Given the description of an element on the screen output the (x, y) to click on. 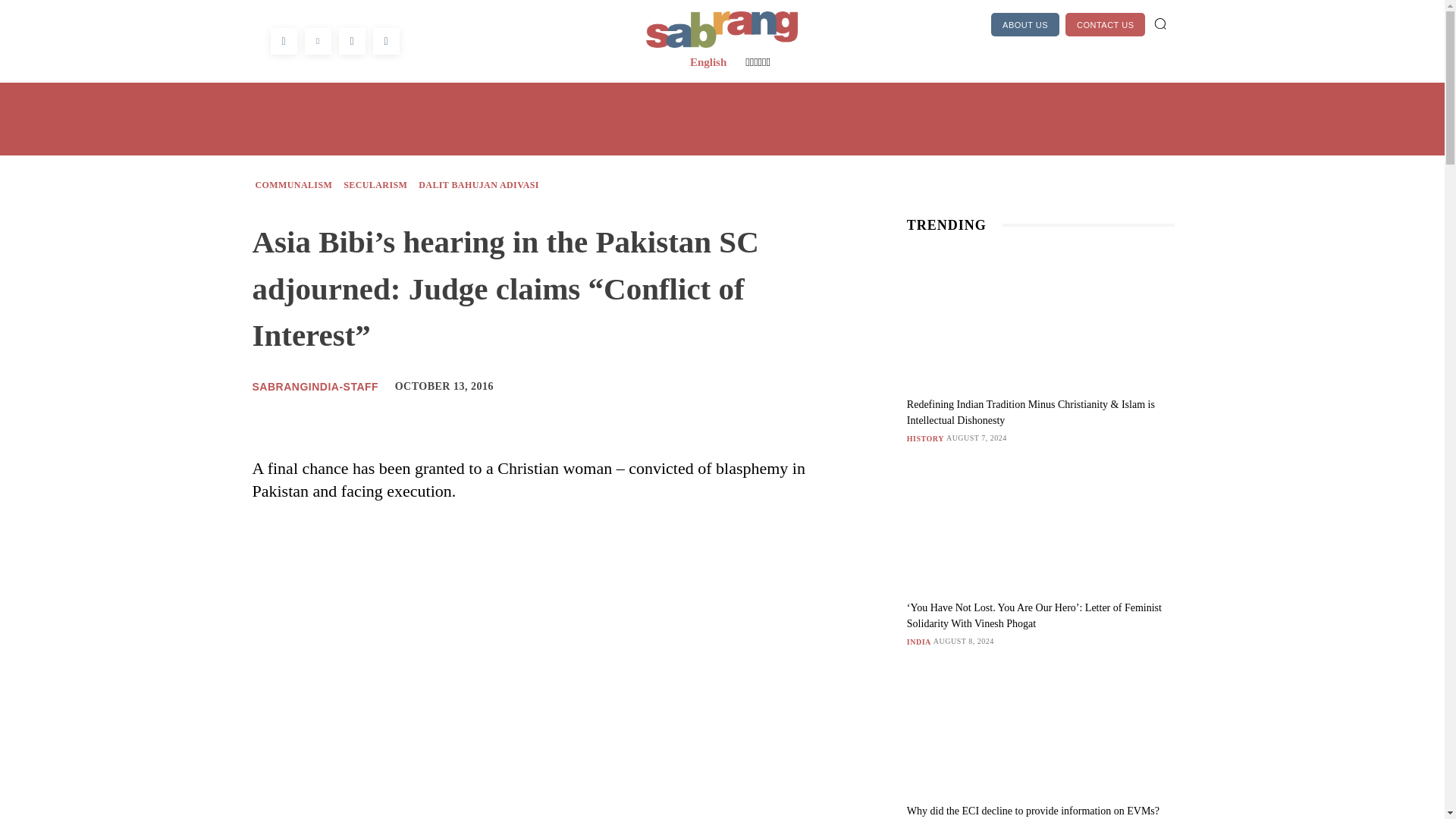
Youtube (385, 40)
English (708, 61)
Facebook (283, 40)
WhatsApp (351, 40)
CONTACT US (1105, 24)
Twitter (317, 40)
ABOUT US (1025, 24)
